Given the description of an element on the screen output the (x, y) to click on. 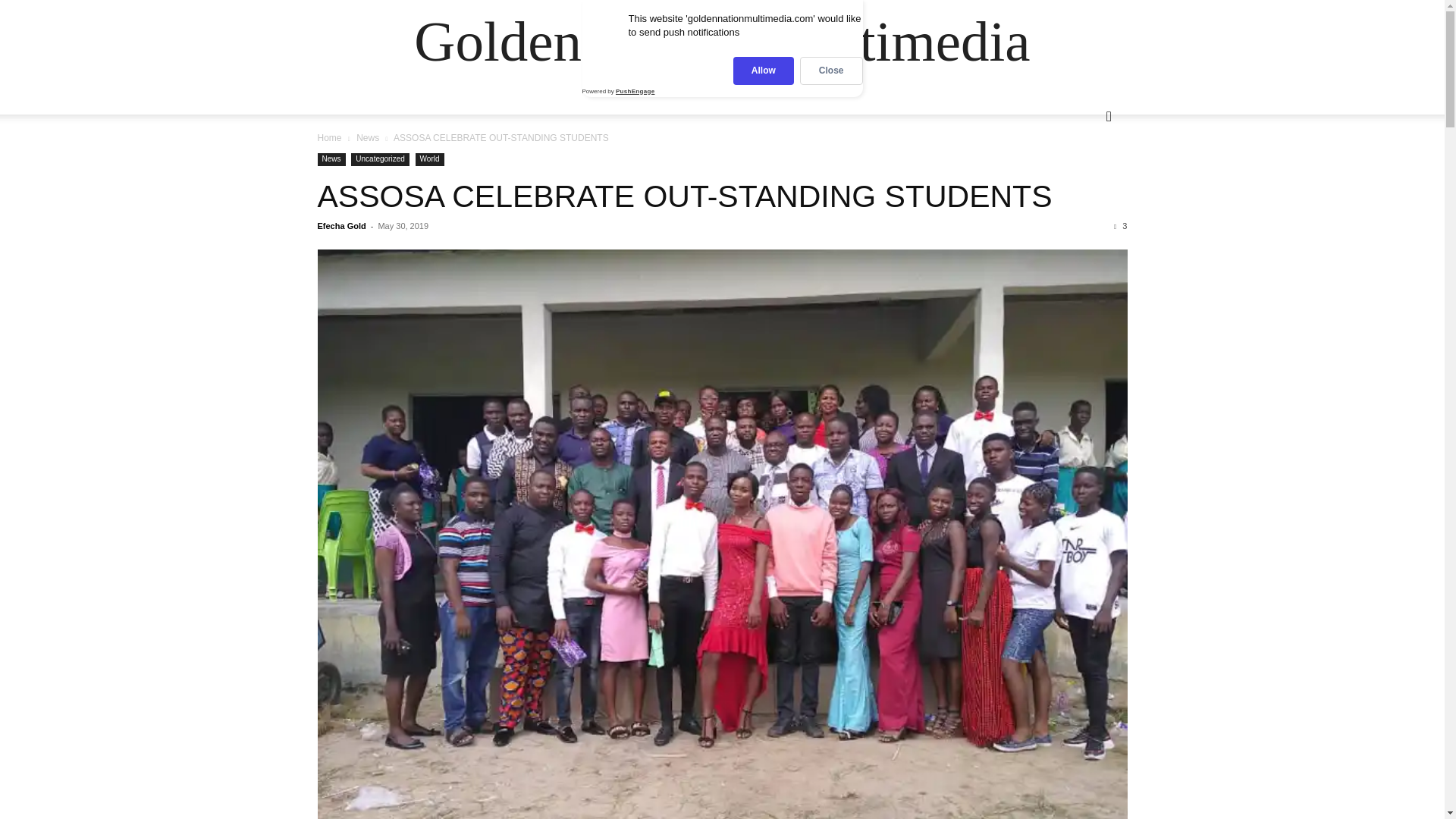
Home (328, 137)
ASSOSA CELEBRATE OUT-STANDING STUDENTS (684, 196)
3 (1119, 225)
Uncategorized (379, 159)
News (367, 137)
ASSOSA CELEBRATE OUT-STANDING STUDENTS (684, 196)
Search (1085, 177)
Efecha Gold (341, 225)
World (429, 159)
View all posts in News (367, 137)
News (331, 159)
Golden Nation Multimedia (721, 41)
